Given the description of an element on the screen output the (x, y) to click on. 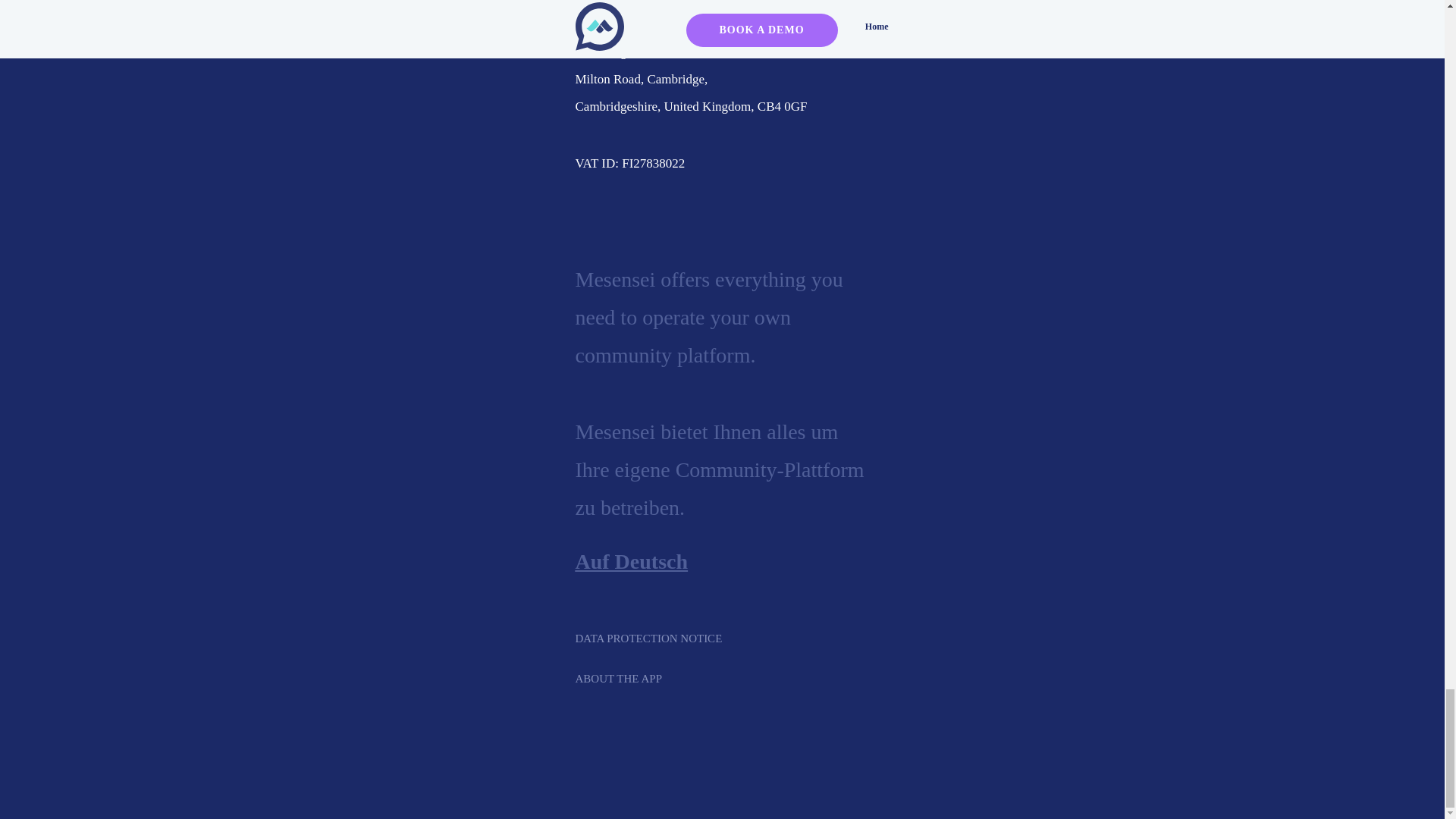
DATA PROTECTION NOTICE (684, 638)
Auf Deutsch (631, 561)
ABOUT THE APP (640, 678)
